Given the description of an element on the screen output the (x, y) to click on. 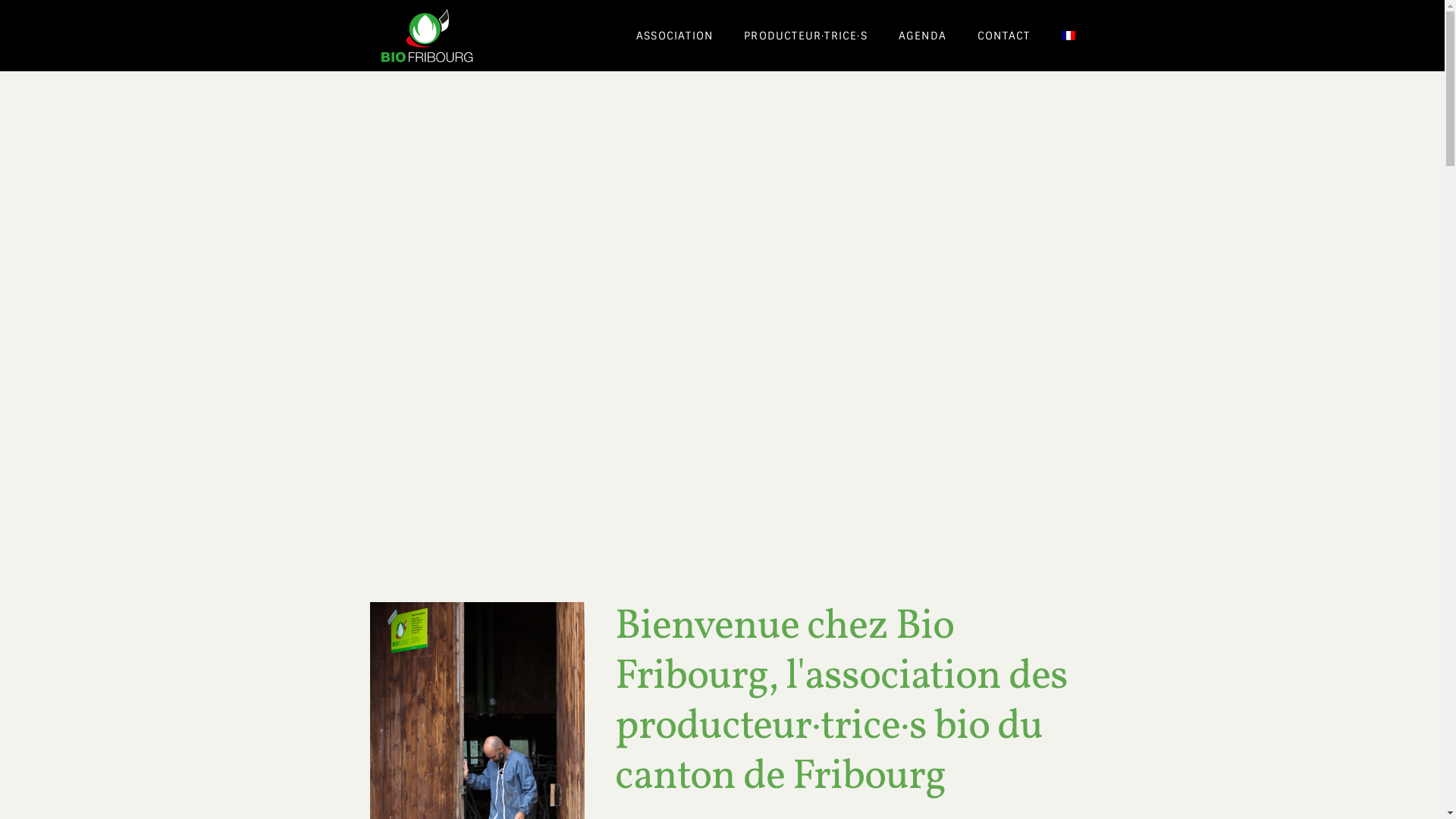
AGENDA Element type: text (922, 35)
CONTACT Element type: text (1003, 35)
ASSOCIATION Element type: text (674, 35)
